Given the description of an element on the screen output the (x, y) to click on. 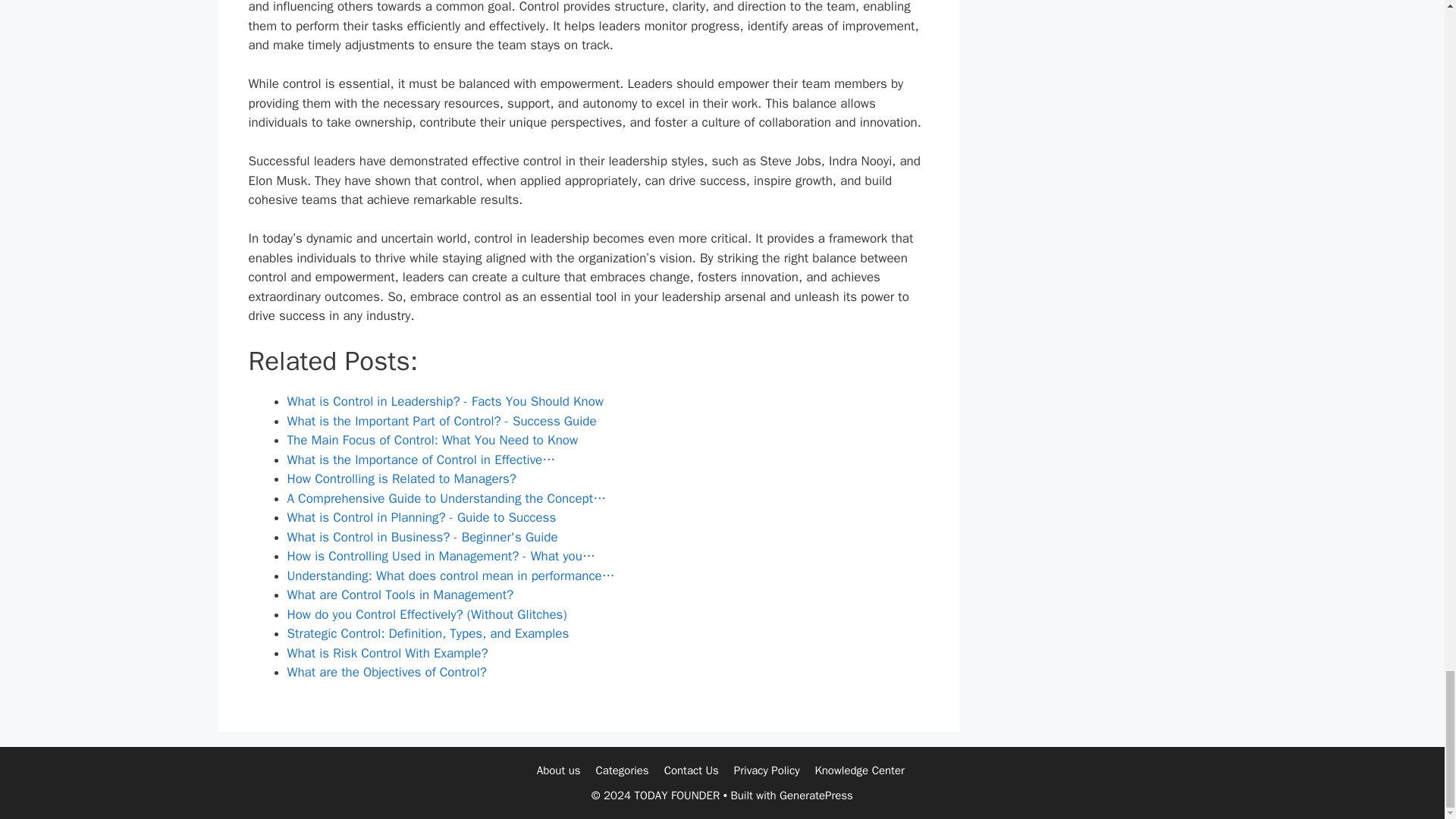
Strategic Control: Definition, Types, and Examples (427, 633)
What is Control in Planning? - Guide to Success (421, 517)
What are Control Tools in Management? (399, 594)
What are the Objectives of Control? (386, 672)
How Controlling is Related to Managers? (400, 478)
What is the Important Part of Control? - Success Guide (440, 421)
The Main Focus of Control: What You Need to Know (432, 439)
What is Risk Control With Example? (386, 652)
What is Control in Business? - Beginner's Guide (421, 537)
What is Control in Leadership? - Facts You Should Know (445, 401)
